Given the description of an element on the screen output the (x, y) to click on. 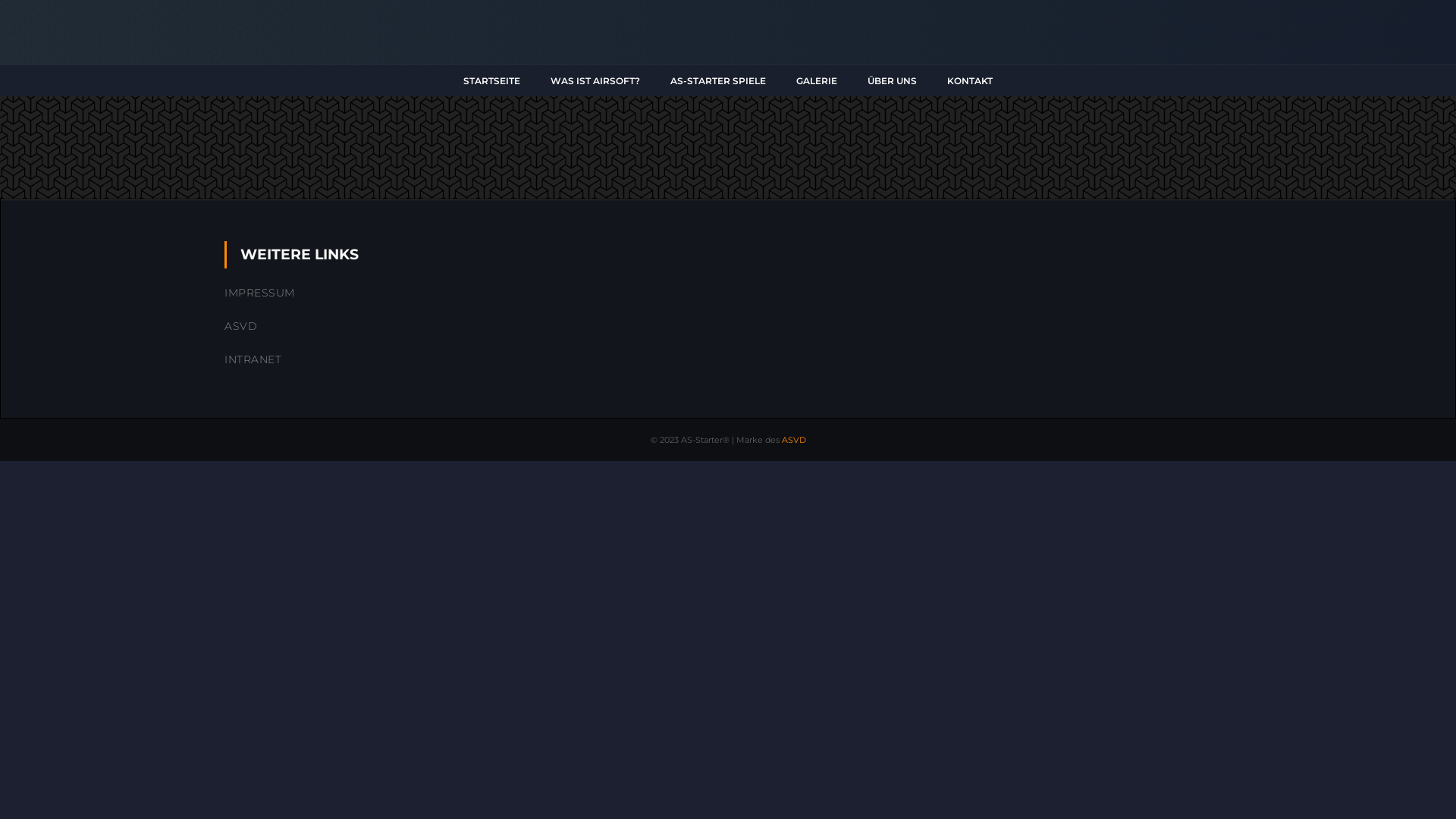
AS-STARTER SPIELE Element type: text (718, 80)
ASVD Element type: text (240, 325)
INTRANET Element type: text (252, 359)
GALERIE Element type: text (816, 80)
IMPRESSUM Element type: text (259, 292)
WAS IST AIRSOFT? Element type: text (595, 80)
KONTAKT Element type: text (969, 80)
ASVD Element type: text (793, 439)
STARTSEITE Element type: text (491, 80)
